Given the description of an element on the screen output the (x, y) to click on. 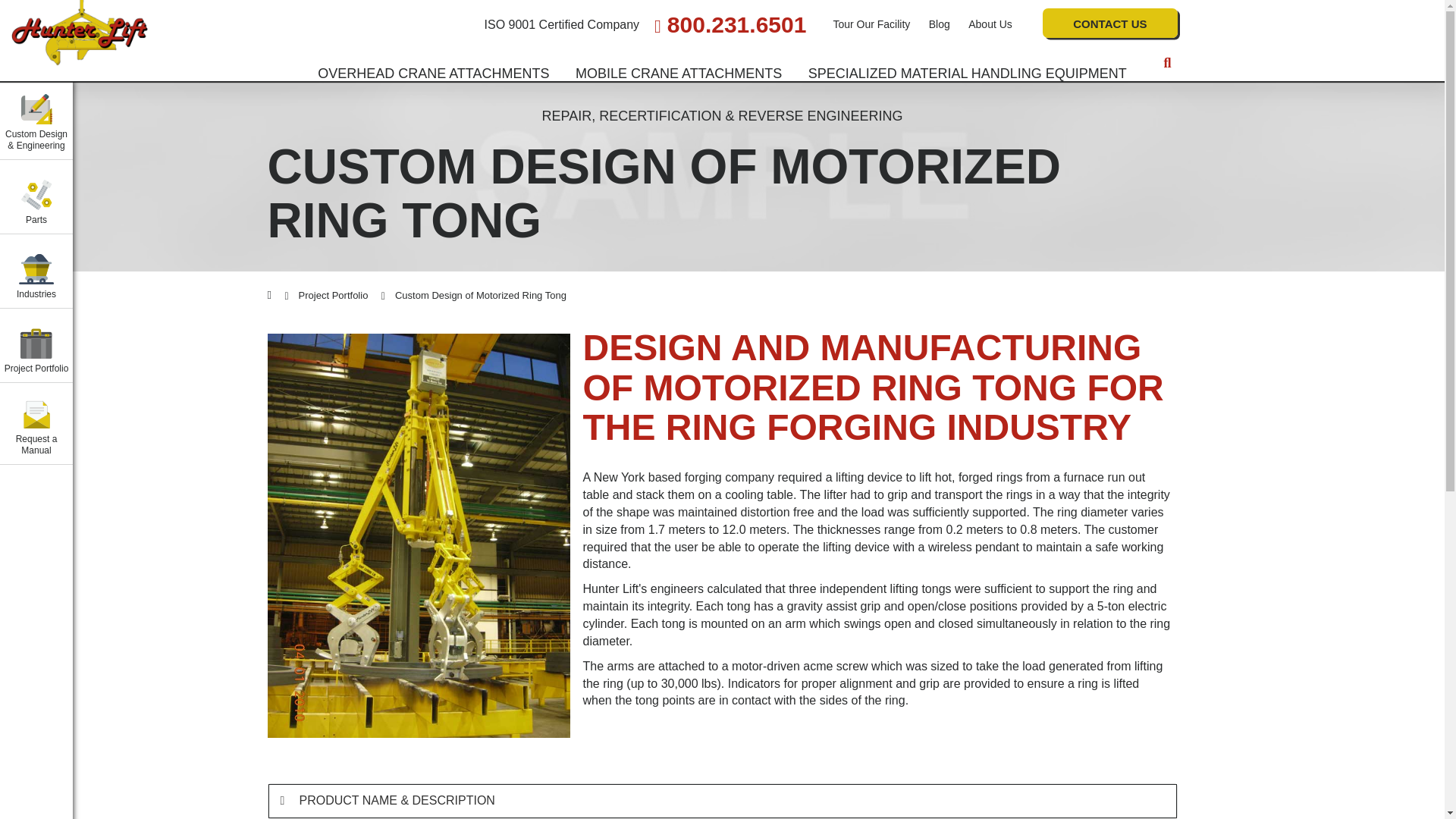
Blog (939, 24)
MOBILE CRANE ATTACHMENTS (678, 74)
Industries (36, 271)
Project Portfolio (36, 345)
CONTACT US (1109, 22)
Parts (36, 196)
About Us (989, 24)
Tour Our Facility (871, 24)
OVERHEAD CRANE ATTACHMENTS (432, 74)
800.231.6501 (729, 25)
SPECIALIZED MATERIAL HANDLING EQUIPMENT (967, 74)
Hunter Lift (79, 33)
